Given the description of an element on the screen output the (x, y) to click on. 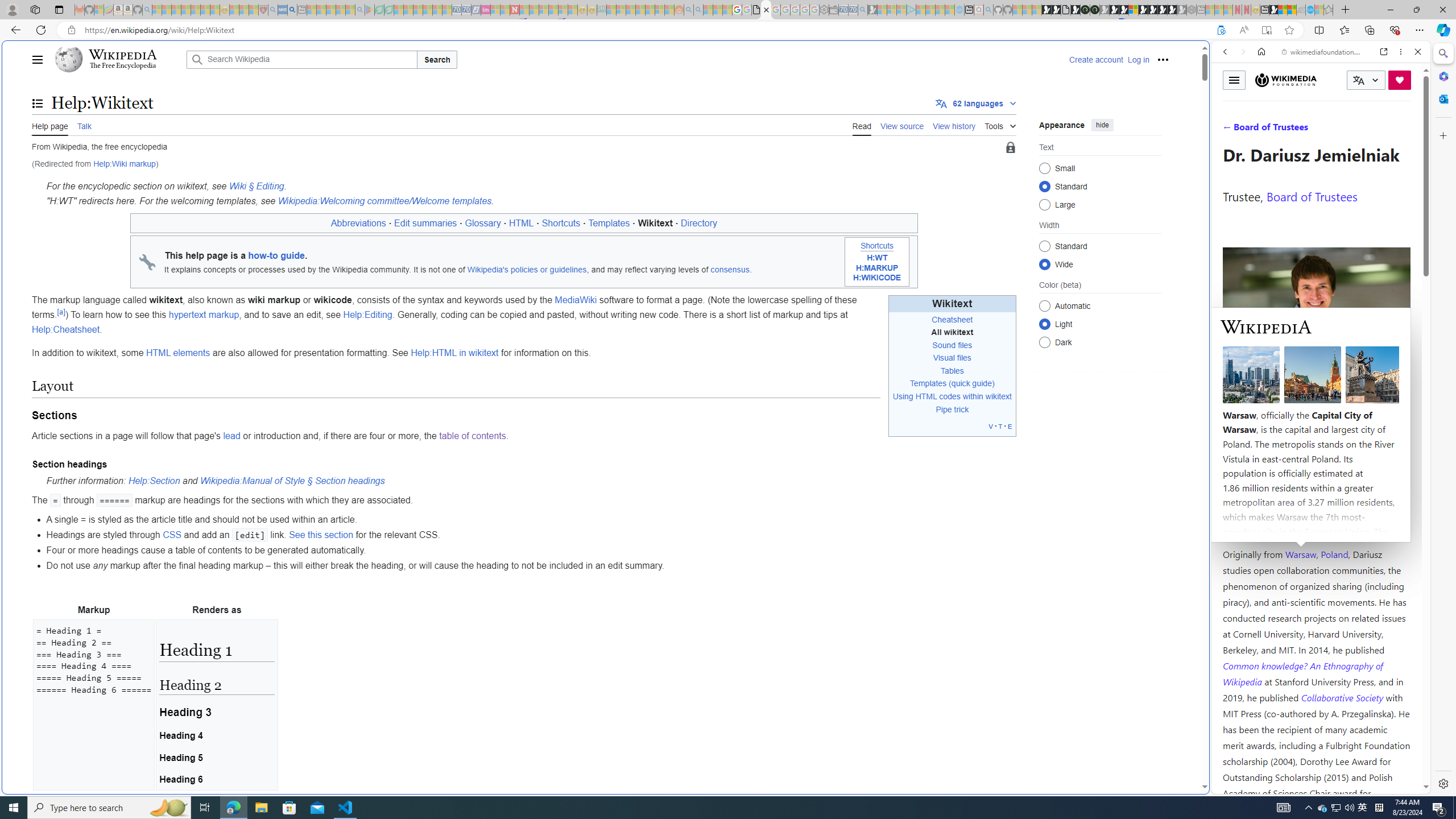
Toggle the table of contents (37, 103)
Talk (84, 124)
